Given the description of an element on the screen output the (x, y) to click on. 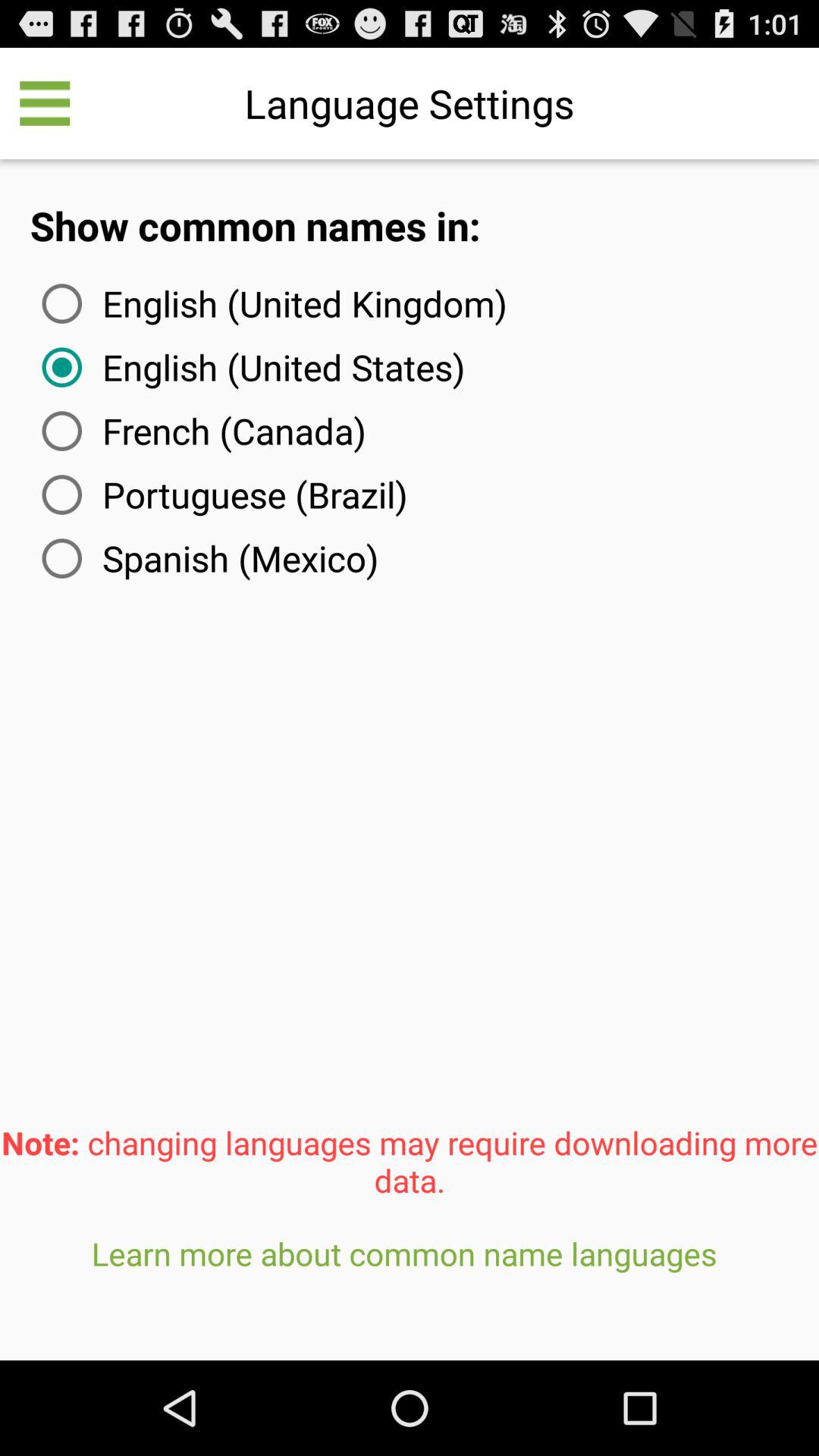
jump until french (canada) item (200, 430)
